Given the description of an element on the screen output the (x, y) to click on. 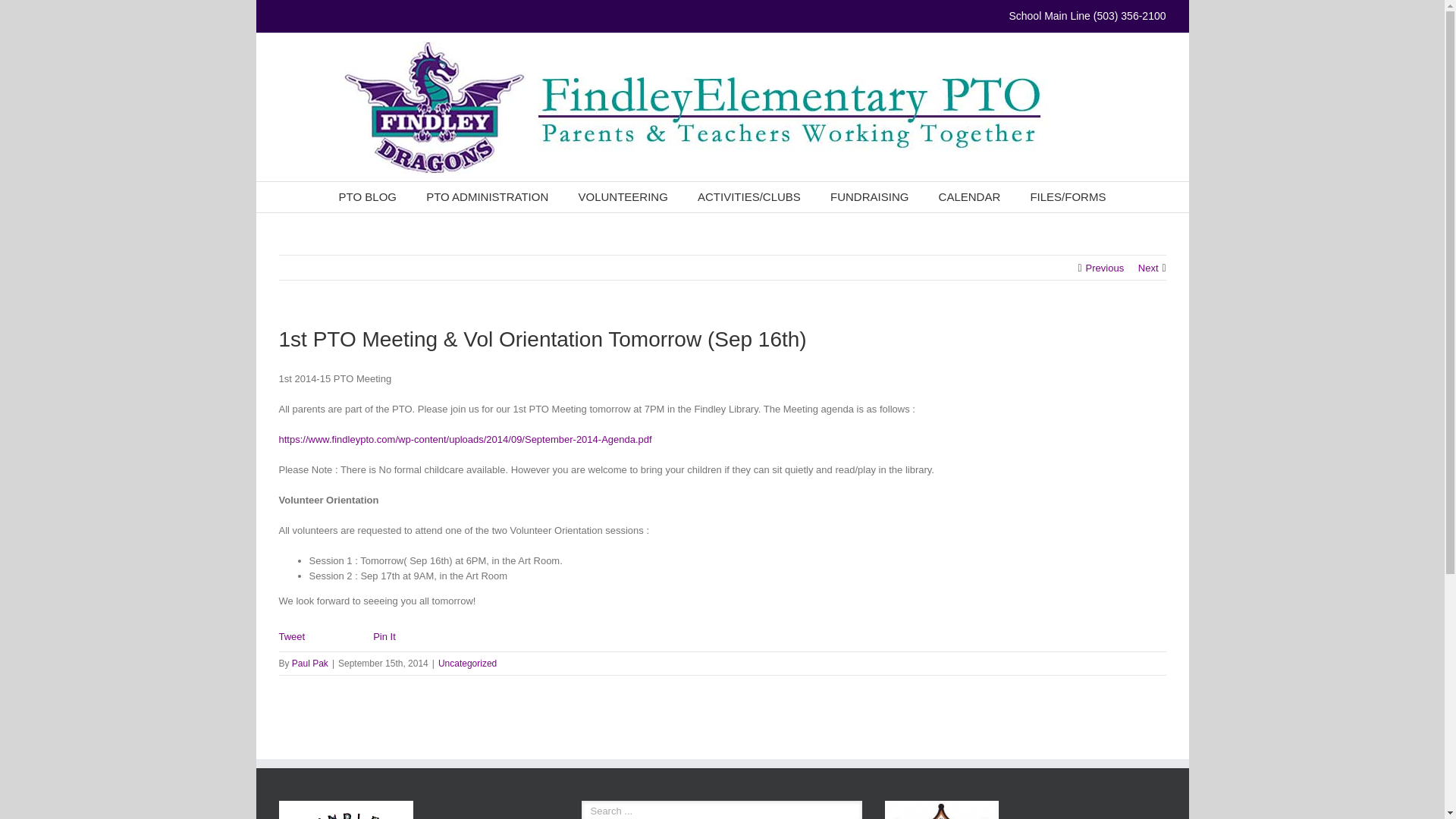
PTO ADMINISTRATION (487, 196)
Posts by Paul Pak (310, 663)
VOLUNTEERING (622, 196)
FUNDRAISING (868, 196)
Findley Elementary School website (346, 809)
Findley Elementary School website (346, 808)
PTO BLOG (367, 196)
